Given the description of an element on the screen output the (x, y) to click on. 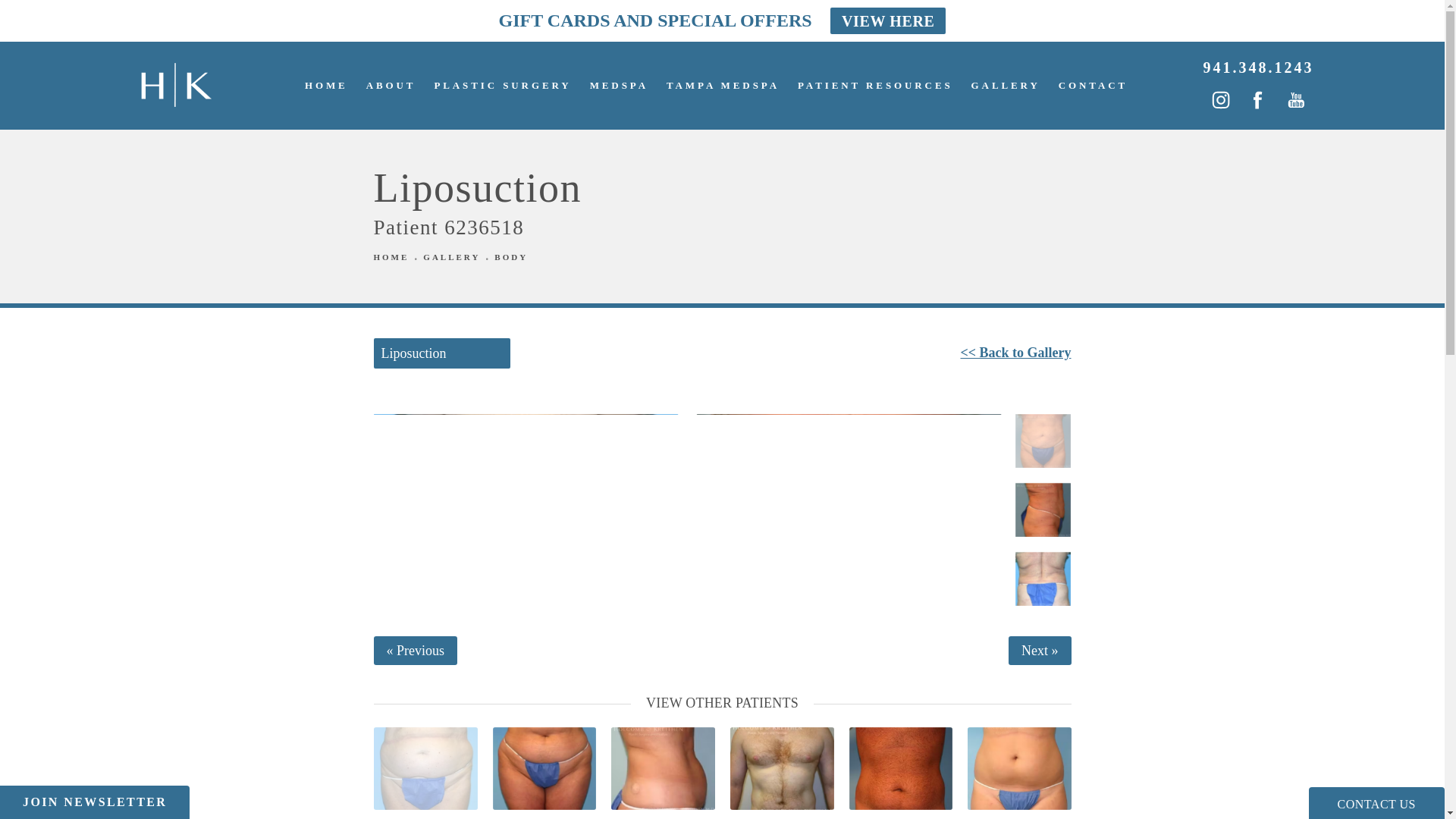
ABOUT (390, 85)
HOME (325, 85)
PLASTIC SURGERY (502, 85)
VIEW HERE (886, 20)
